Given the description of an element on the screen output the (x, y) to click on. 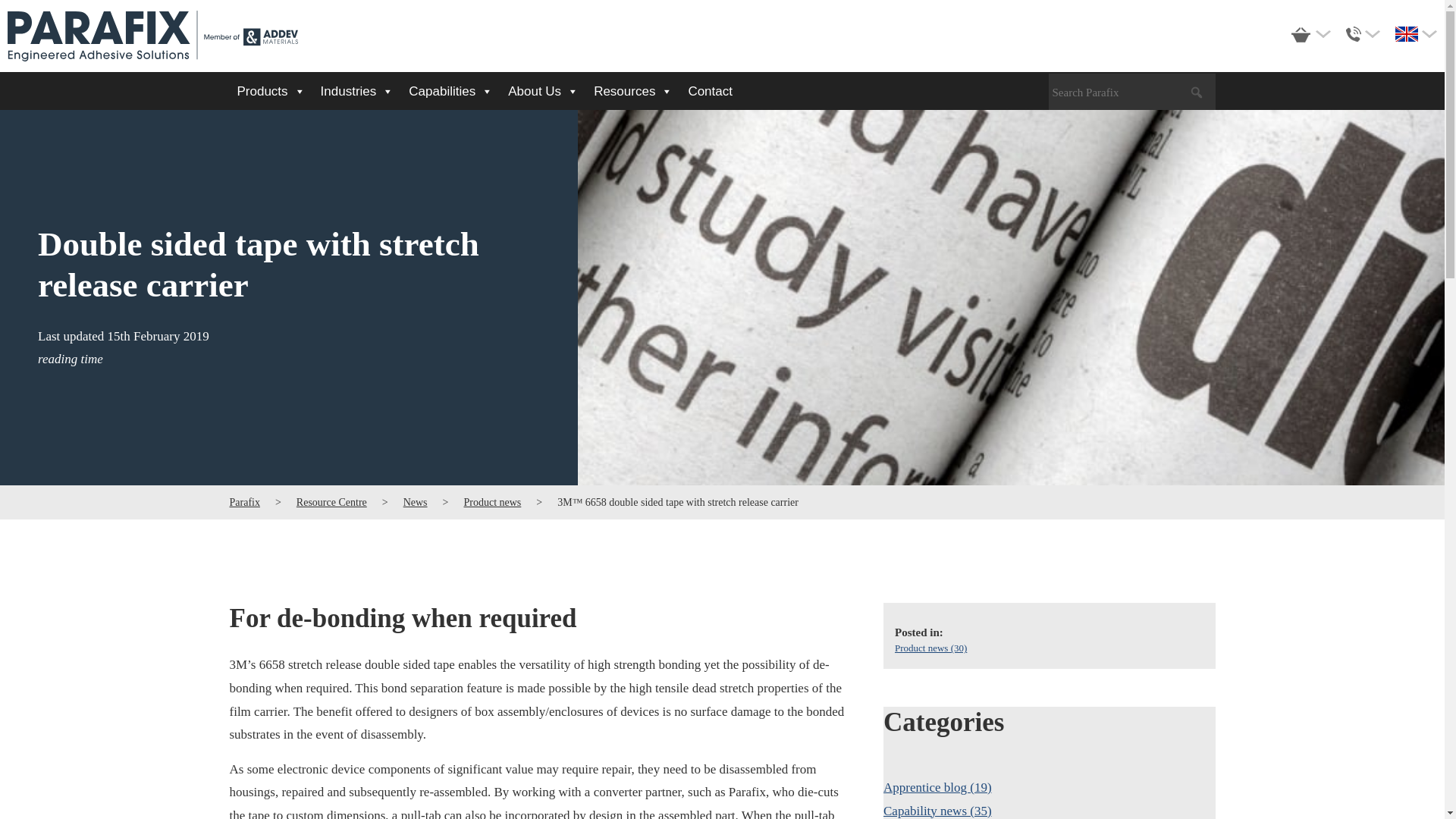
Go to the Product news category archives. (492, 501)
Go to Resource Centre. (331, 501)
Go to News. (415, 501)
Go to Parafix. (243, 501)
Products (270, 91)
